Given the description of an element on the screen output the (x, y) to click on. 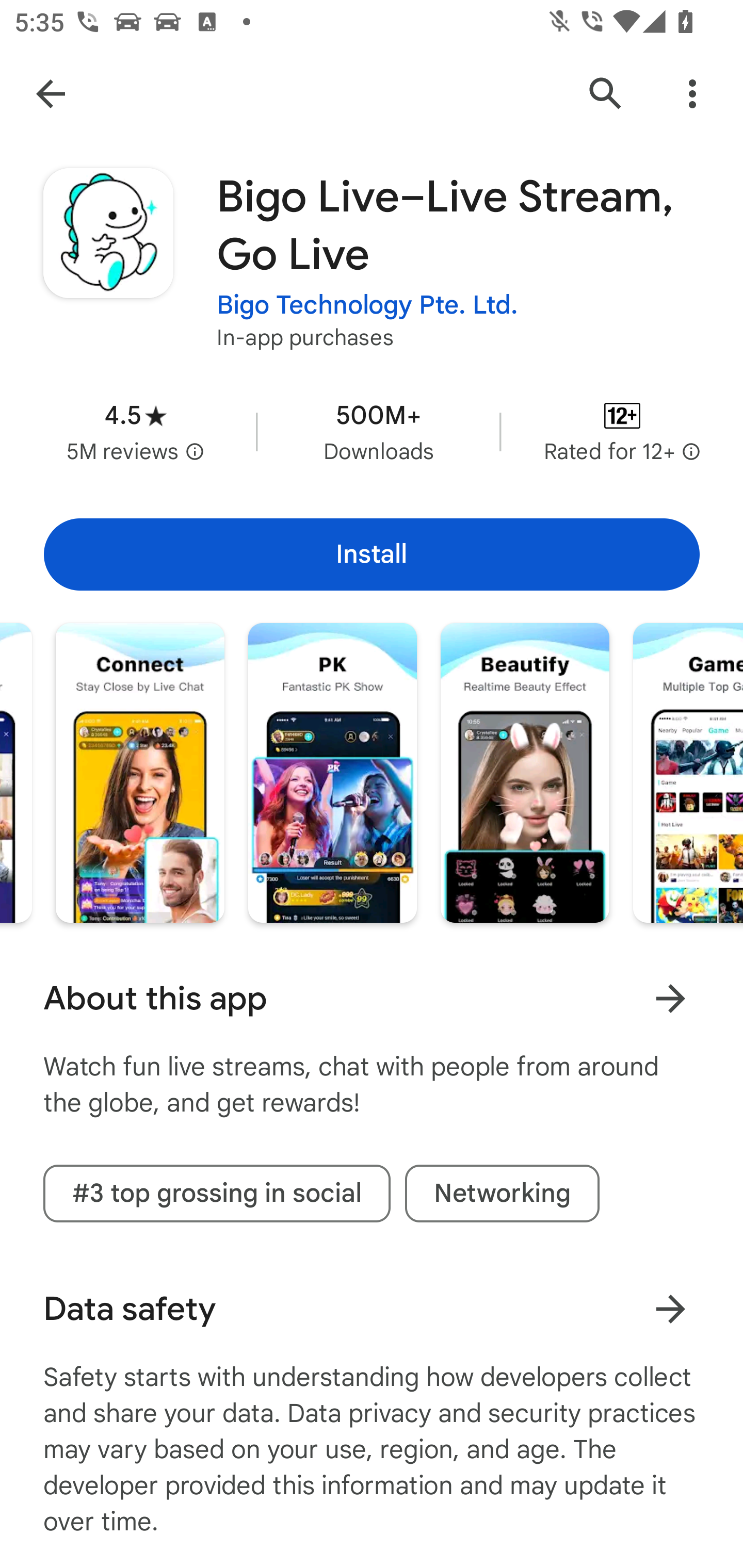
Navigate up (50, 93)
Search Google Play (605, 93)
More Options (692, 93)
Bigo Technology Pte. Ltd. (367, 304)
Average rating 4.5 stars in 5 million reviews (135, 431)
Content rating Rated for 12+ (622, 431)
Install (371, 554)
Screenshot "4" of "8" (139, 771)
Screenshot "5" of "8" (332, 771)
Screenshot "6" of "8" (524, 771)
Screenshot "7" of "8" (688, 771)
About this app Learn more About this app (371, 998)
Learn more About this app (670, 997)
#3 top grossing in social tag (216, 1193)
Networking tag (501, 1193)
Data safety Learn more about data safety (371, 1309)
Learn more about data safety (670, 1308)
